Given the description of an element on the screen output the (x, y) to click on. 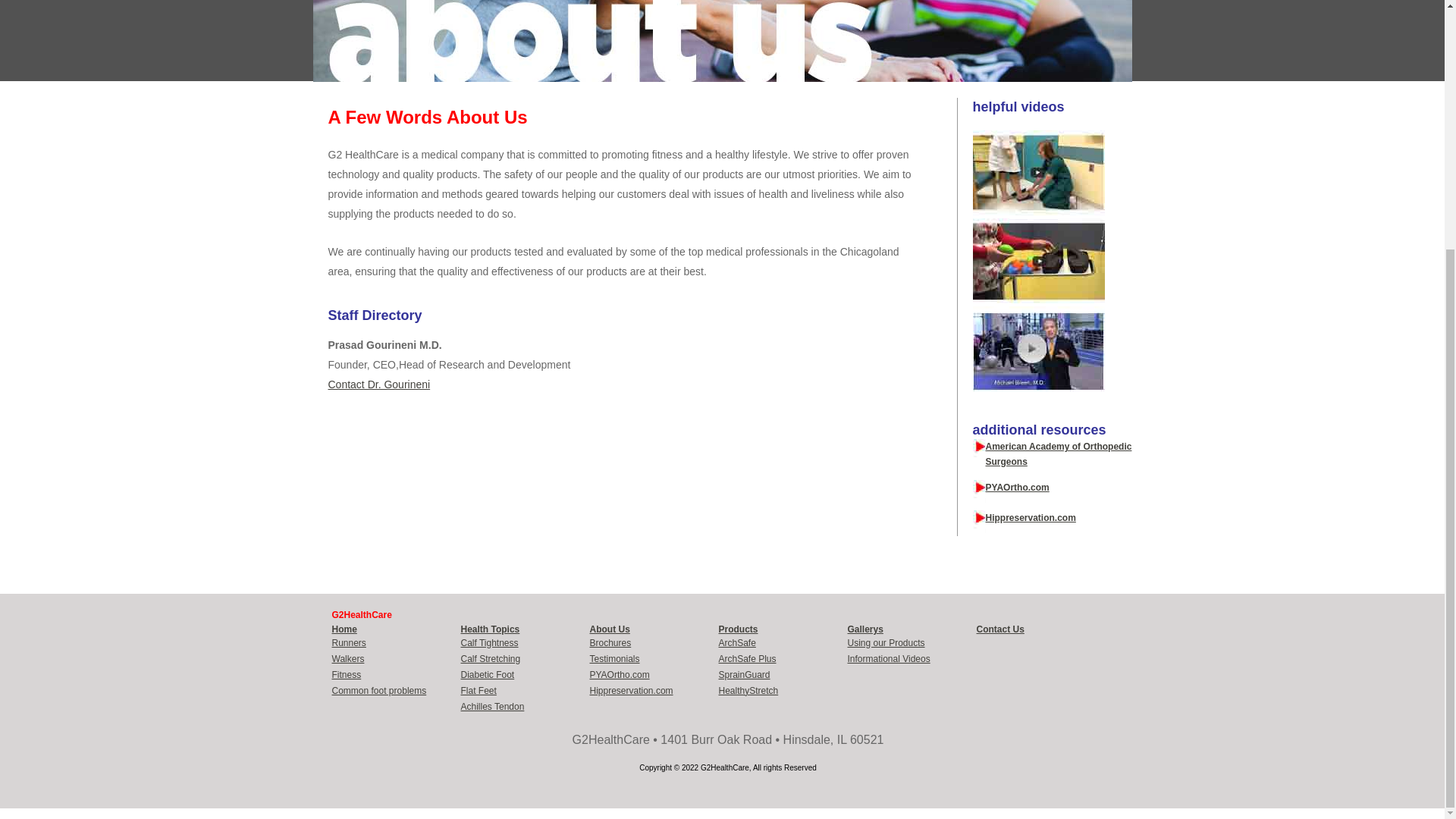
Common foot problems (378, 690)
Walkers (348, 658)
Fitness (346, 674)
Contact Dr. Gourineni (378, 384)
American Academy of Orthopedic Surgeons (1058, 453)
Runners (348, 643)
PYAOrtho.com (1017, 487)
Home (343, 629)
Calf Stretching (491, 658)
Hippreservation.com (1030, 517)
Health Topics (490, 629)
Calf Tightness (489, 643)
